Given the description of an element on the screen output the (x, y) to click on. 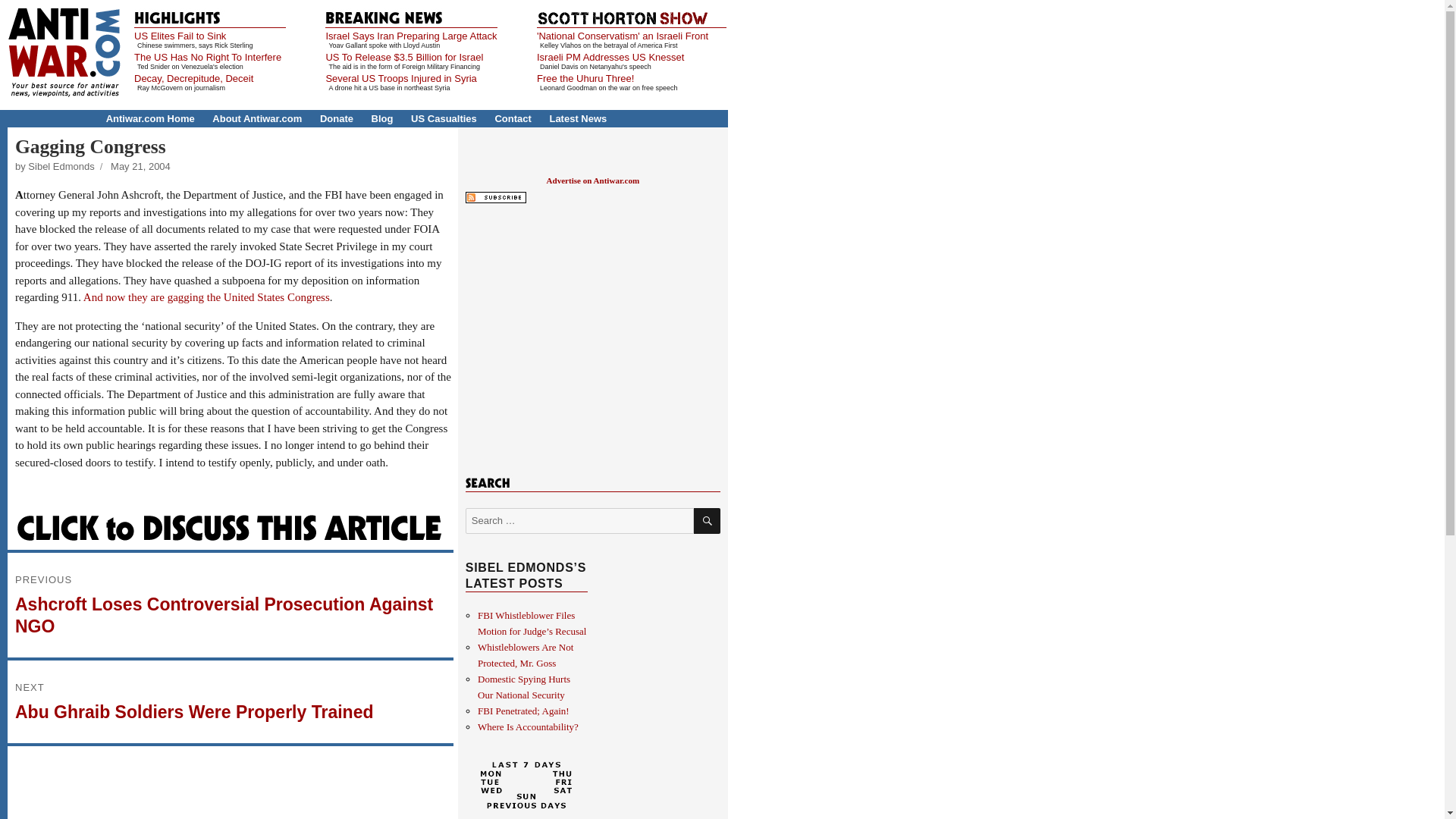
About Antiwar.com (256, 118)
Contact (513, 118)
The US Has No Right To Interfere (207, 57)
And now they are gagging the United States Congress (206, 297)
Several US Troops Injured in Syria (400, 78)
3rd party ad content (592, 337)
'National Conservatism' an Israeli Front (622, 35)
Free the Uhuru Three! (585, 78)
May 21, 2004 (140, 165)
